Given the description of an element on the screen output the (x, y) to click on. 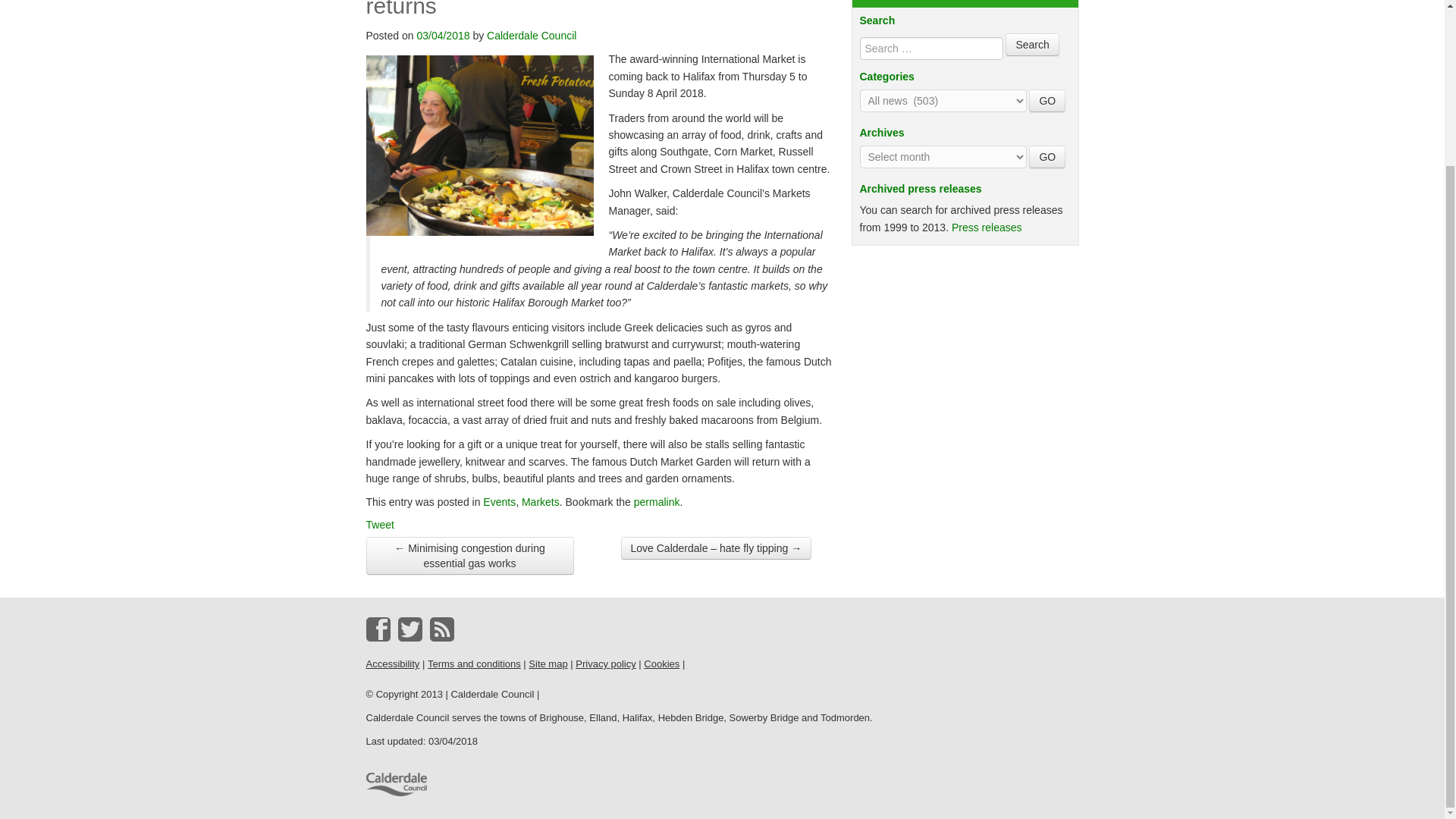
Facebook (377, 629)
RSS (440, 629)
Search (1032, 44)
Twitter (409, 629)
Press releases (987, 227)
Search (1032, 44)
permalink (656, 501)
View all posts by Calderdale Council (531, 35)
Events (499, 501)
Accessibility (392, 663)
GO (1047, 156)
Terms and conditions (474, 663)
Site map (547, 663)
Markets (540, 501)
